Given the description of an element on the screen output the (x, y) to click on. 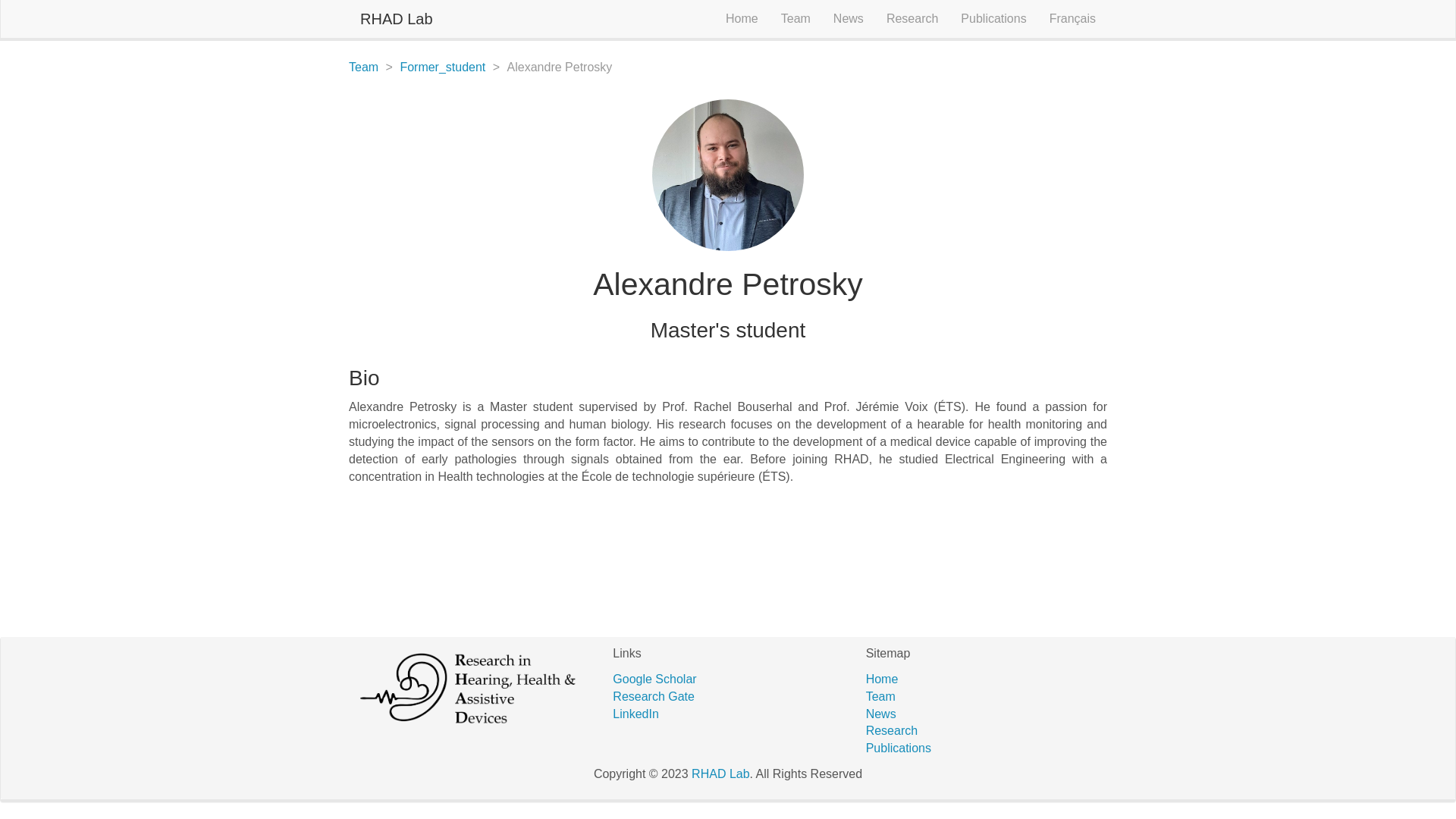
Research (912, 18)
News (881, 713)
Publications (898, 748)
LinkedIn (635, 713)
Research Gate (653, 696)
Team (880, 696)
Team (363, 66)
Home (882, 678)
Home (742, 18)
News (848, 18)
Research (891, 730)
RHAD Lab (396, 18)
Google Scholar (653, 678)
RHAD Lab (720, 773)
Team (796, 18)
